Given the description of an element on the screen output the (x, y) to click on. 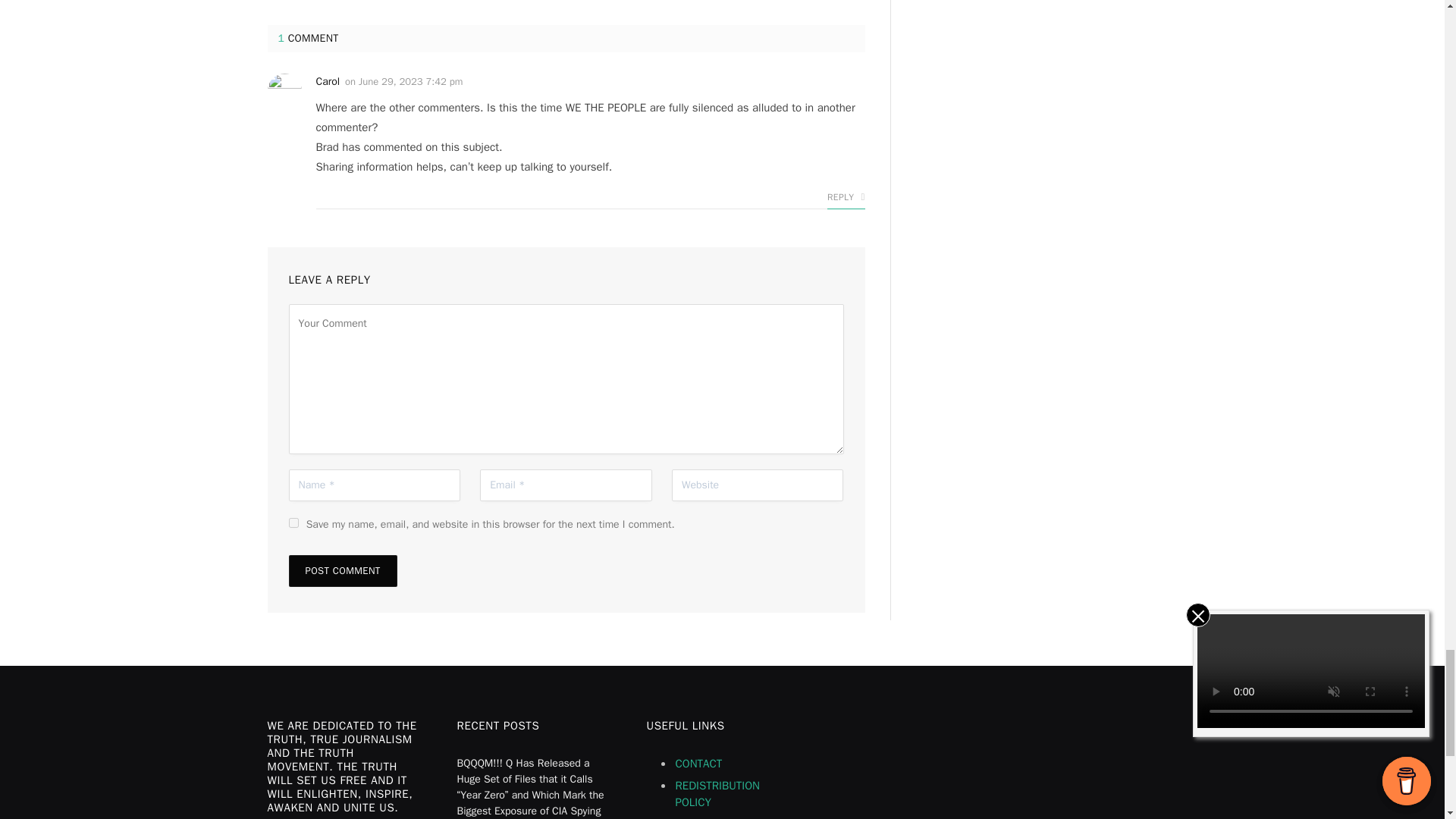
yes (293, 522)
Post Comment (342, 571)
